Given the description of an element on the screen output the (x, y) to click on. 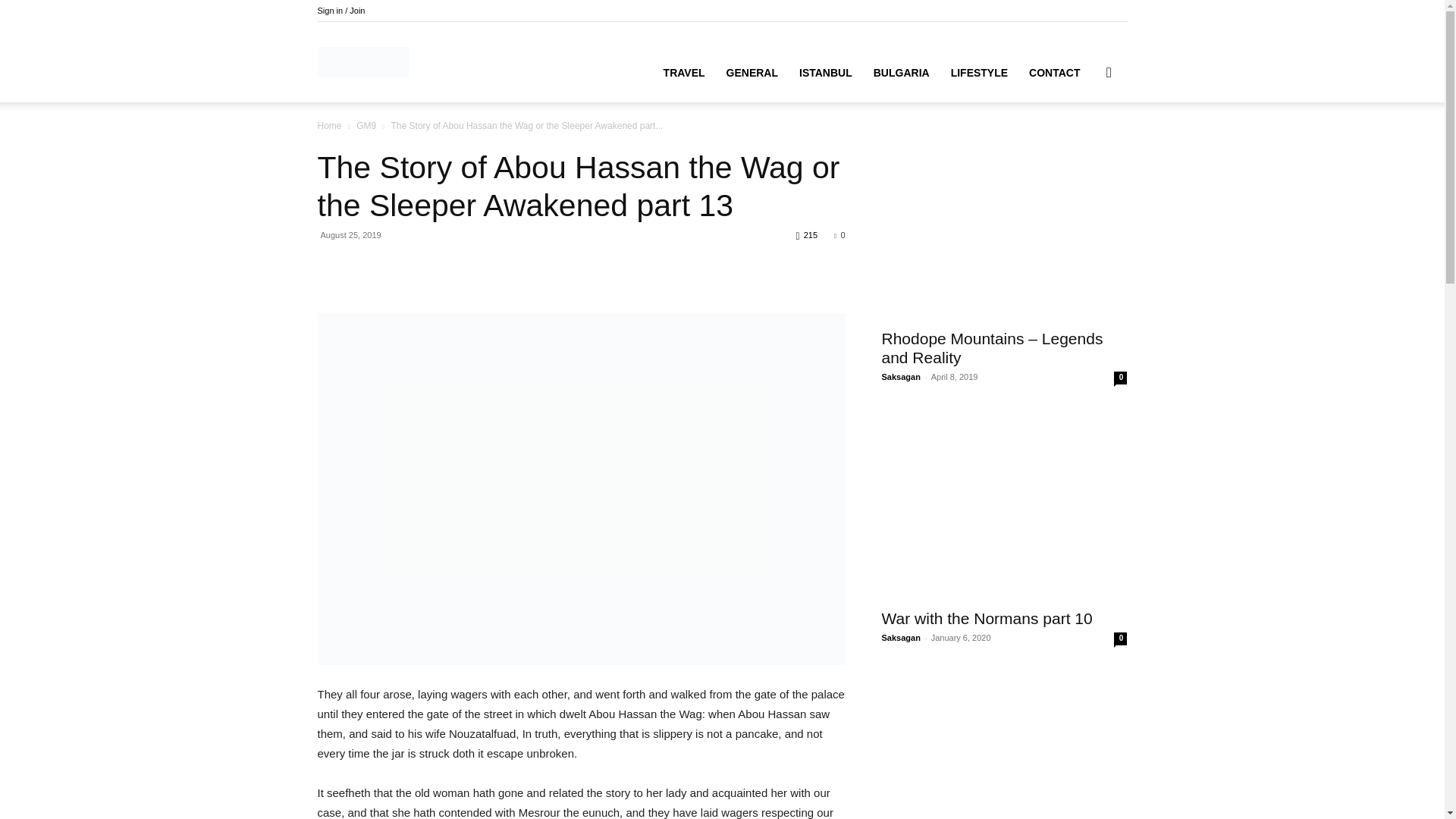
Search (1085, 144)
View all posts in GM9 (365, 125)
GENERAL (752, 72)
0 (839, 234)
Home (328, 125)
LIFESTYLE (978, 72)
CONTACT (1053, 72)
Private Tours (362, 61)
BULGARIA (901, 72)
ISTANBUL (826, 72)
TRAVEL (684, 72)
GM9 (365, 125)
